Given the description of an element on the screen output the (x, y) to click on. 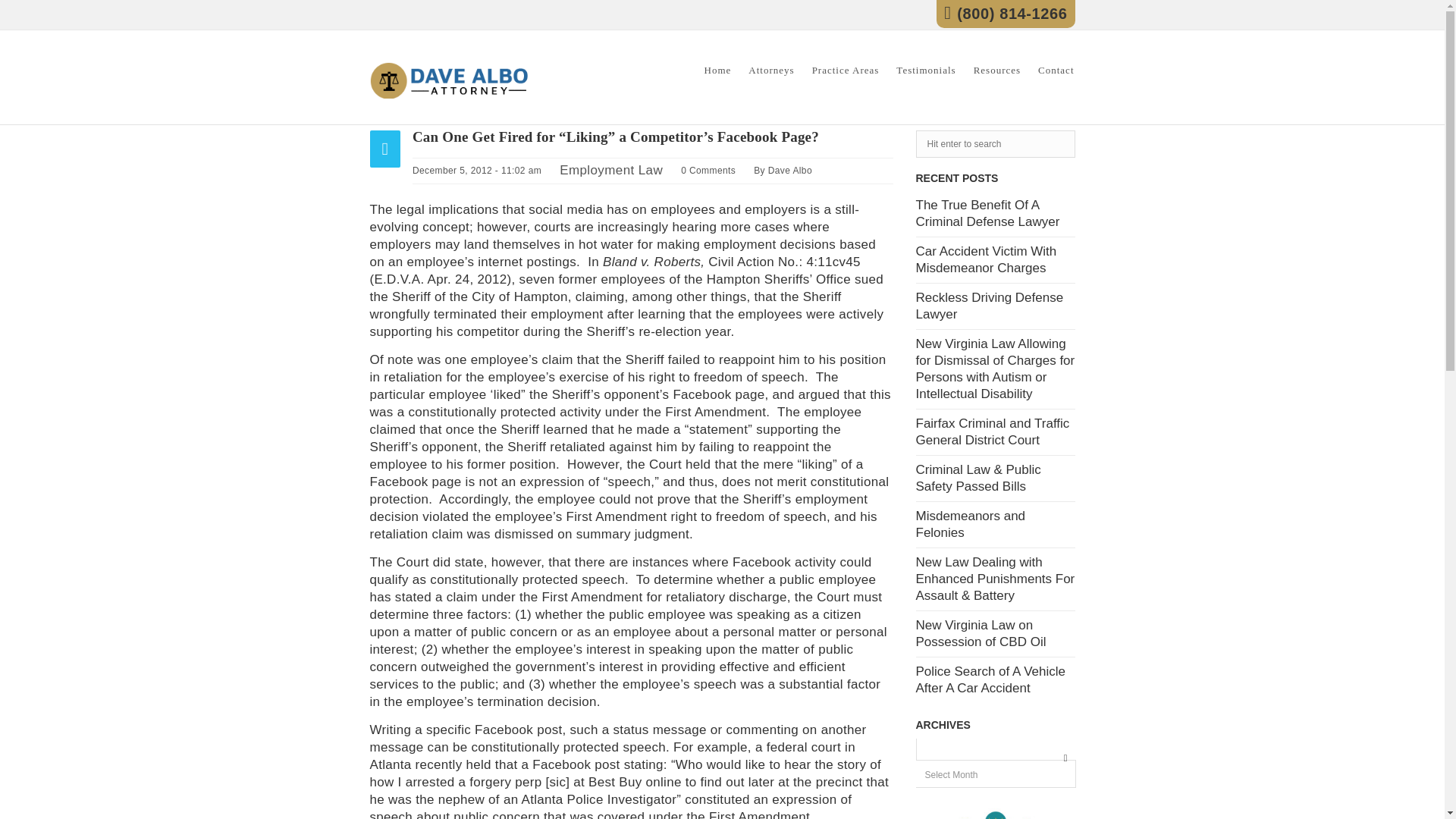
Attorneys (770, 77)
Practice Areas (845, 77)
